Given the description of an element on the screen output the (x, y) to click on. 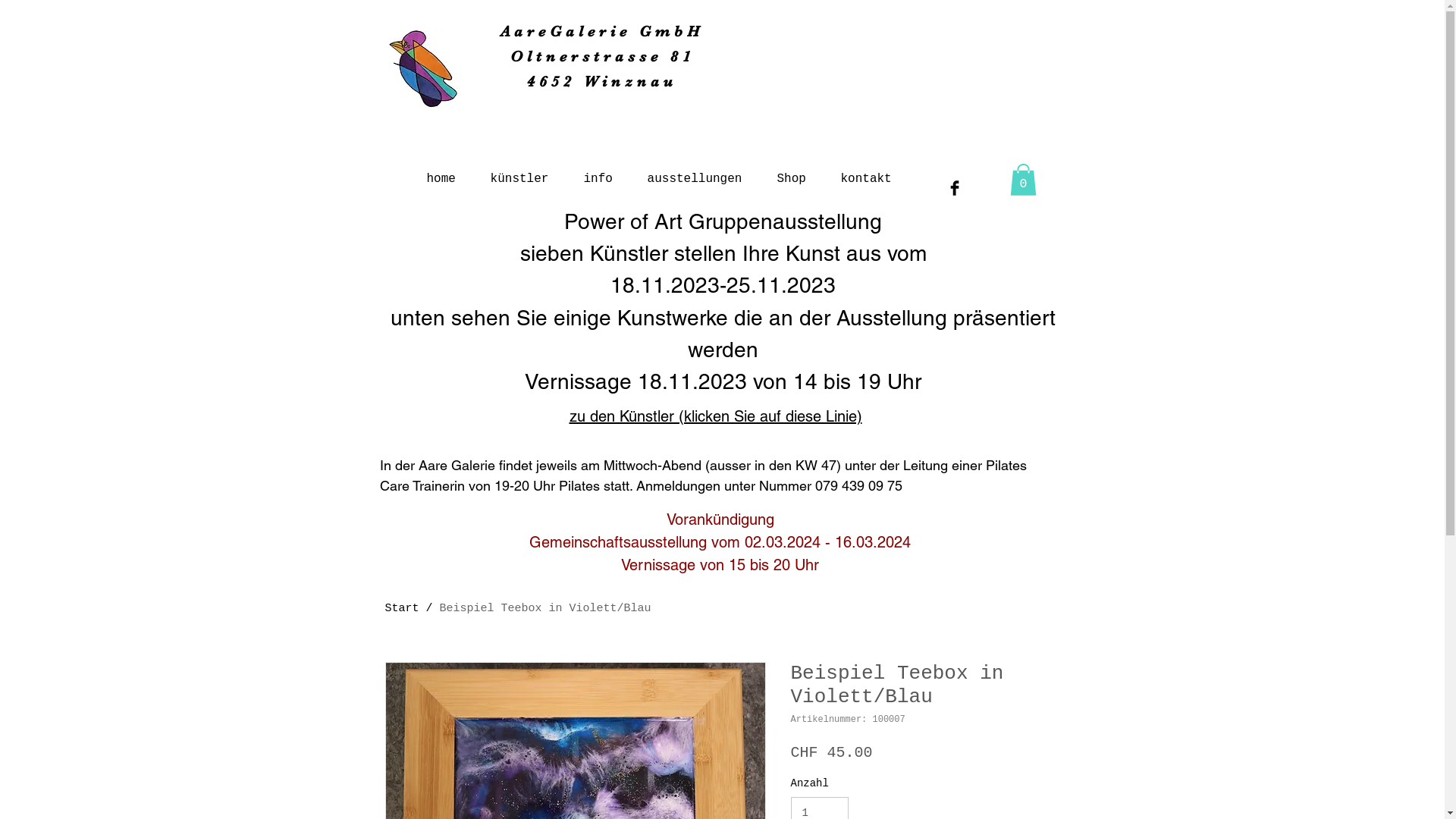
Aare Element type: text (524, 31)
0 Element type: text (1023, 179)
kontakt Element type: text (866, 172)
Beispiel Teebox in Violett/Blau Element type: text (545, 608)
info Element type: text (597, 172)
ausstellungen Element type: text (694, 172)
Start Element type: text (402, 608)
home Element type: text (441, 172)
Shop Element type: text (791, 172)
